Given the description of an element on the screen output the (x, y) to click on. 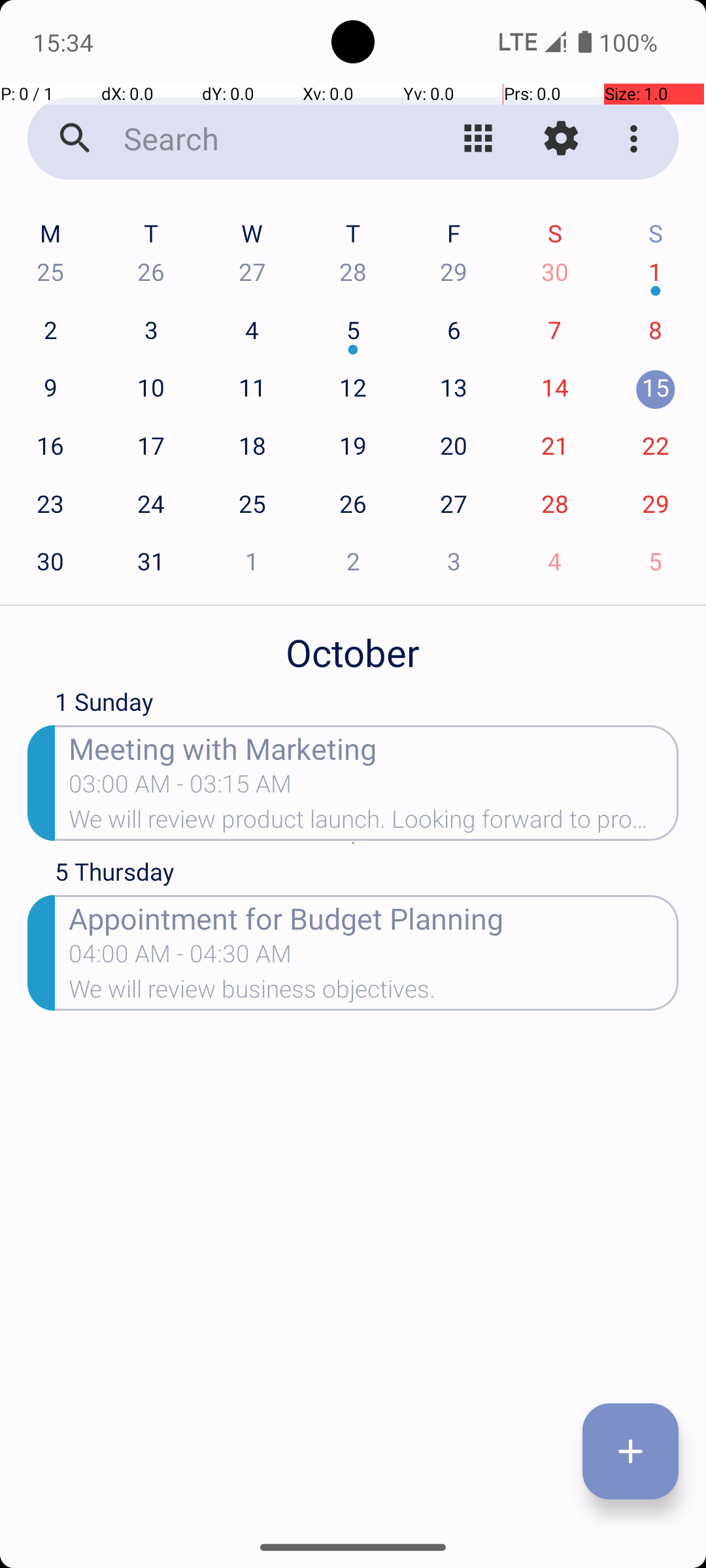
1 Sunday Element type: android.widget.TextView (366, 704)
5 Thursday Element type: android.widget.TextView (366, 874)
03:00 AM - 03:15 AM Element type: android.widget.TextView (179, 787)
We will review product launch. Looking forward to productive discussions. Element type: android.widget.TextView (373, 822)
04:00 AM - 04:30 AM Element type: android.widget.TextView (179, 957)
We will review business objectives. Element type: android.widget.TextView (373, 992)
